Given the description of an element on the screen output the (x, y) to click on. 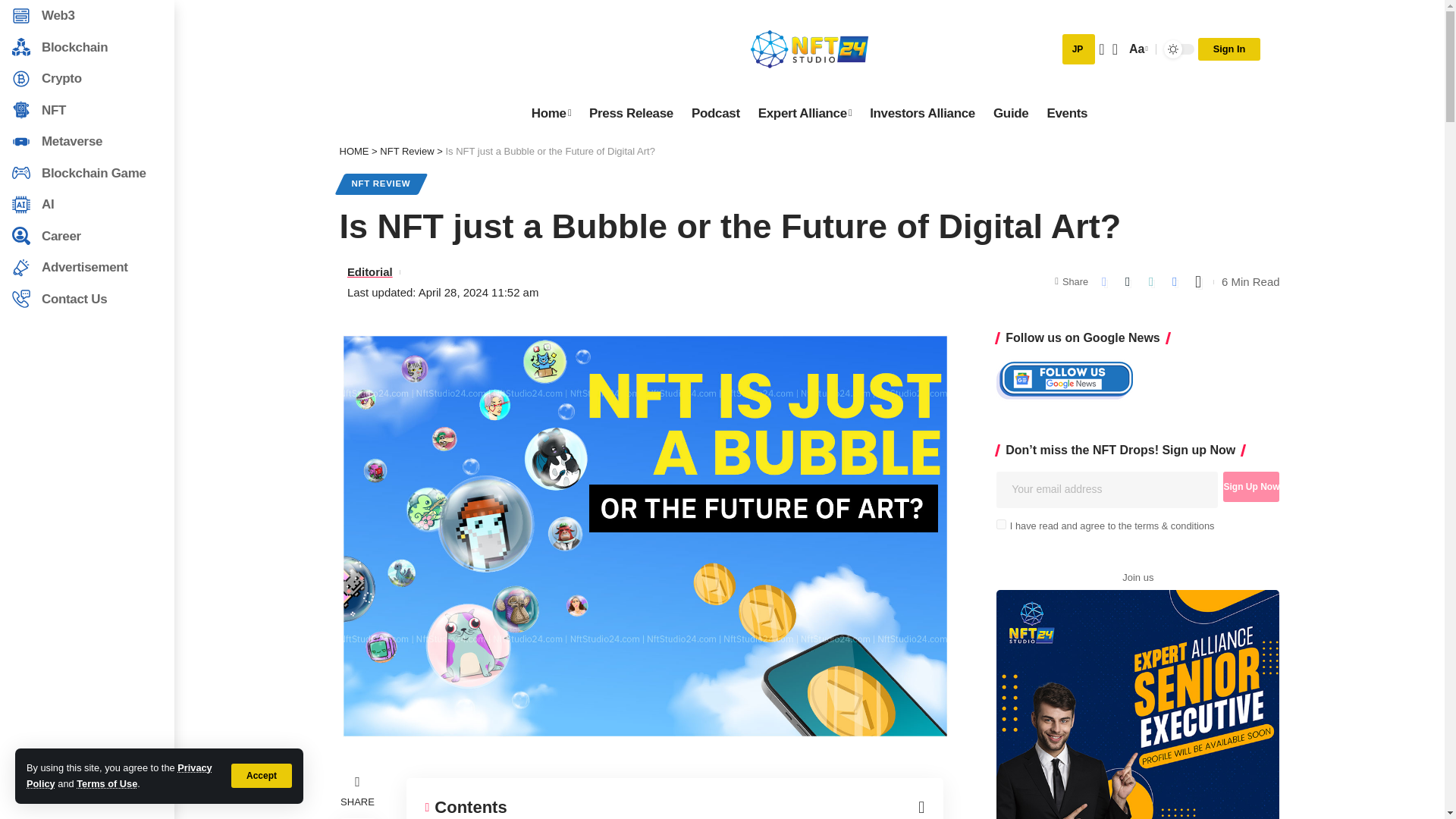
1 (1000, 524)
Expert Alliance (804, 113)
Aa (1136, 48)
Events (1066, 113)
Podcast (715, 113)
Privacy Policy (119, 775)
Guide (1010, 113)
JP (1079, 49)
Sign Up Now (1251, 486)
Sign In (1229, 48)
NFT Studio 24 (809, 48)
Press Release (630, 113)
Go to the NFT Review Category archives. (406, 151)
Accept (261, 775)
Home (550, 113)
